Given the description of an element on the screen output the (x, y) to click on. 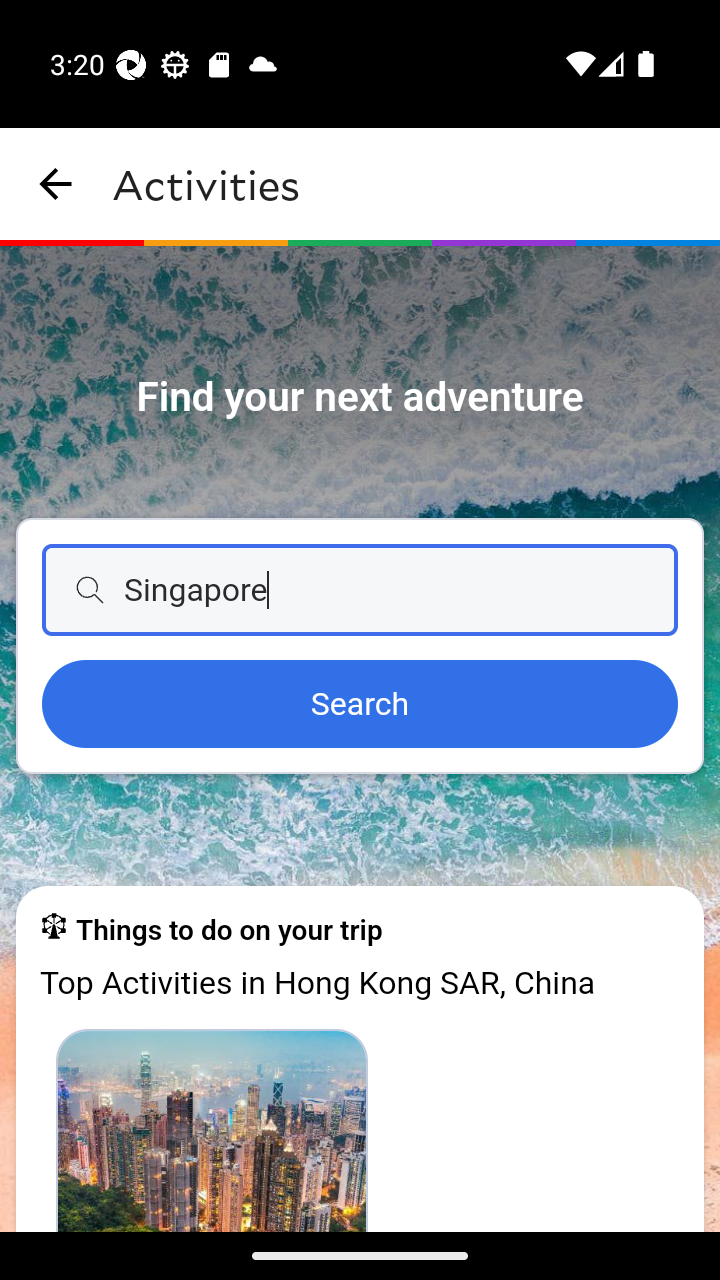
navigation_button (56, 184)
Singapore (359, 590)
Search (359, 705)
Find top deals Hong Kong Find top deals (211, 1129)
